Given the description of an element on the screen output the (x, y) to click on. 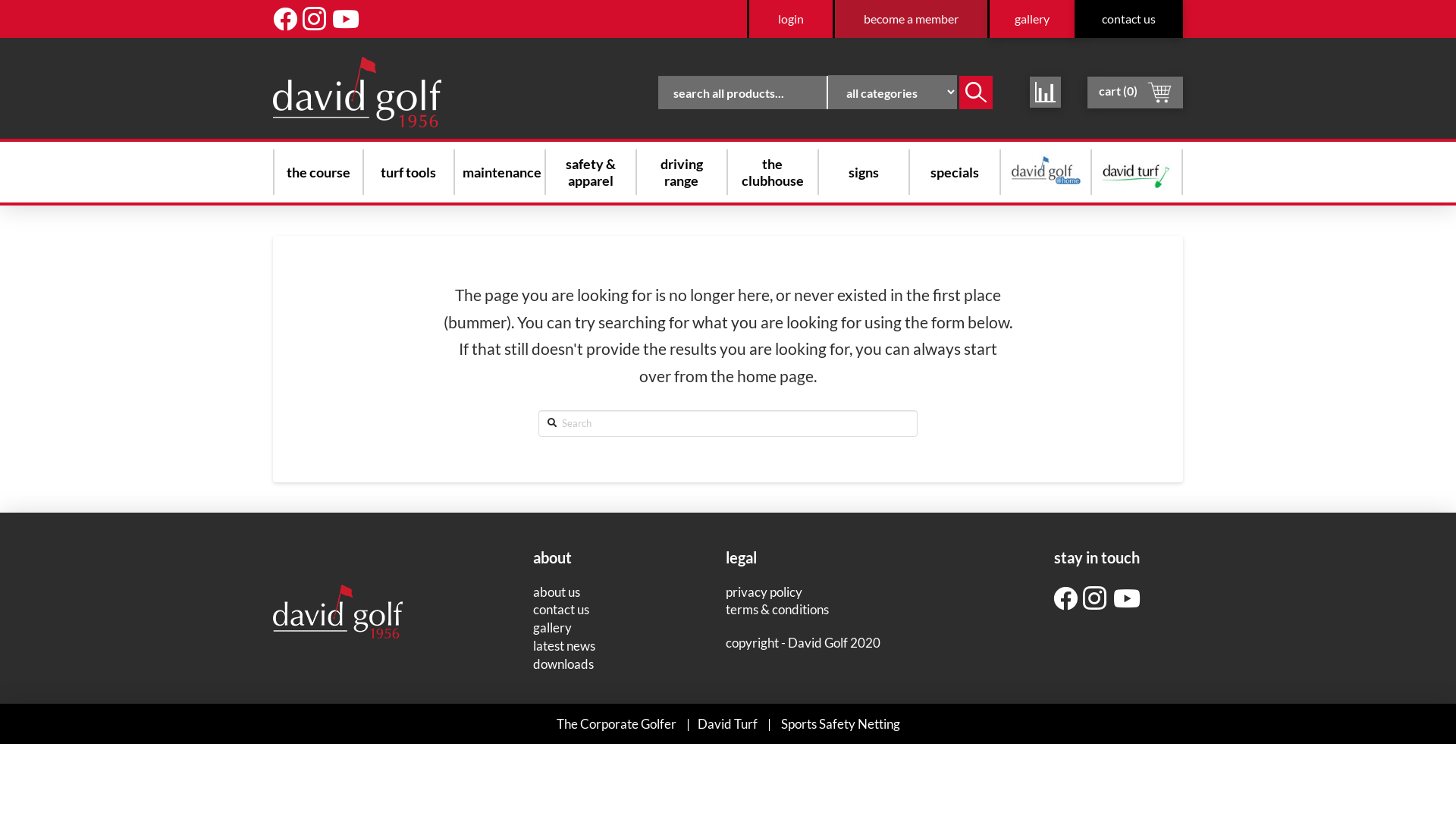
Sports Safety Netting Element type: text (840, 724)
downloads Element type: text (563, 664)
gallery Element type: text (552, 627)
contact us Element type: text (1129, 18)
about us Element type: text (556, 592)
turf tools Element type: text (408, 172)
the clubhouse Element type: text (772, 171)
login Element type: text (790, 18)
become a member Element type: text (911, 18)
David Turf Element type: text (727, 724)
specials Element type: text (954, 172)
latest news Element type: text (564, 646)
terms & conditions Element type: text (776, 609)
The Corporate Golfer Element type: text (616, 724)
maintenance Element type: text (502, 172)
signs Element type: text (863, 172)
safety & apparel Element type: text (590, 171)
driving range Element type: text (681, 171)
gallery Element type: text (1032, 18)
contact us Element type: text (561, 609)
cart (0) Element type: text (1135, 91)
the course Element type: text (318, 172)
privacy policy Element type: text (763, 592)
